Given the description of an element on the screen output the (x, y) to click on. 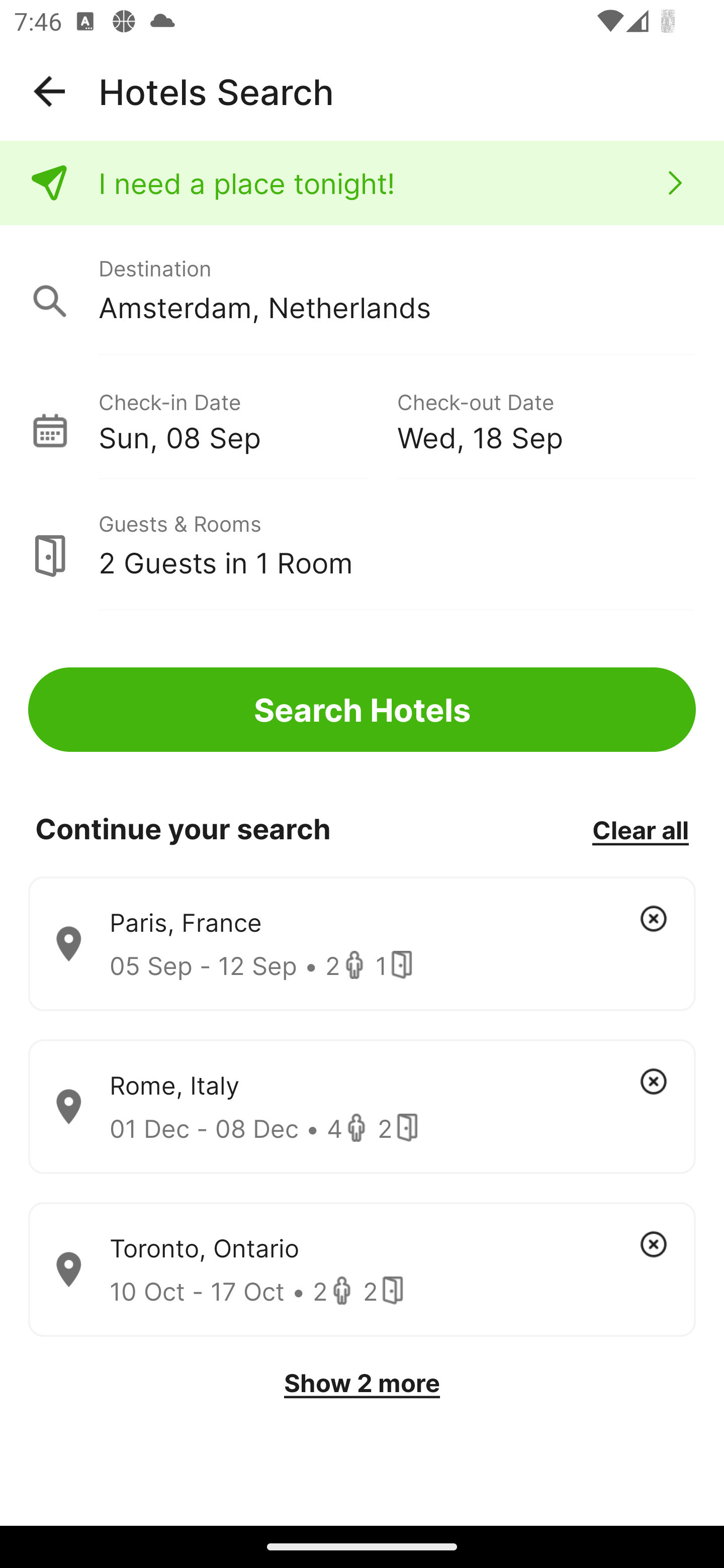
I need a place tonight! (362, 183)
Destination Amsterdam, Netherlands (362, 290)
Check-in Date Sun, 08 Sep (247, 418)
Check-out Date Wed, 18 Sep (546, 418)
Guests & Rooms 2 Guests in 1 Room (362, 545)
Search Hotels (361, 709)
Clear all (640, 829)
Paris, France 05 Sep - 12 Sep • 2  1  (361, 943)
Rome, Italy 01 Dec - 08 Dec • 4  2  (361, 1106)
Toronto, Ontario 10 Oct - 17 Oct • 2  2  (361, 1269)
Show 2 more (362, 1382)
